Given the description of an element on the screen output the (x, y) to click on. 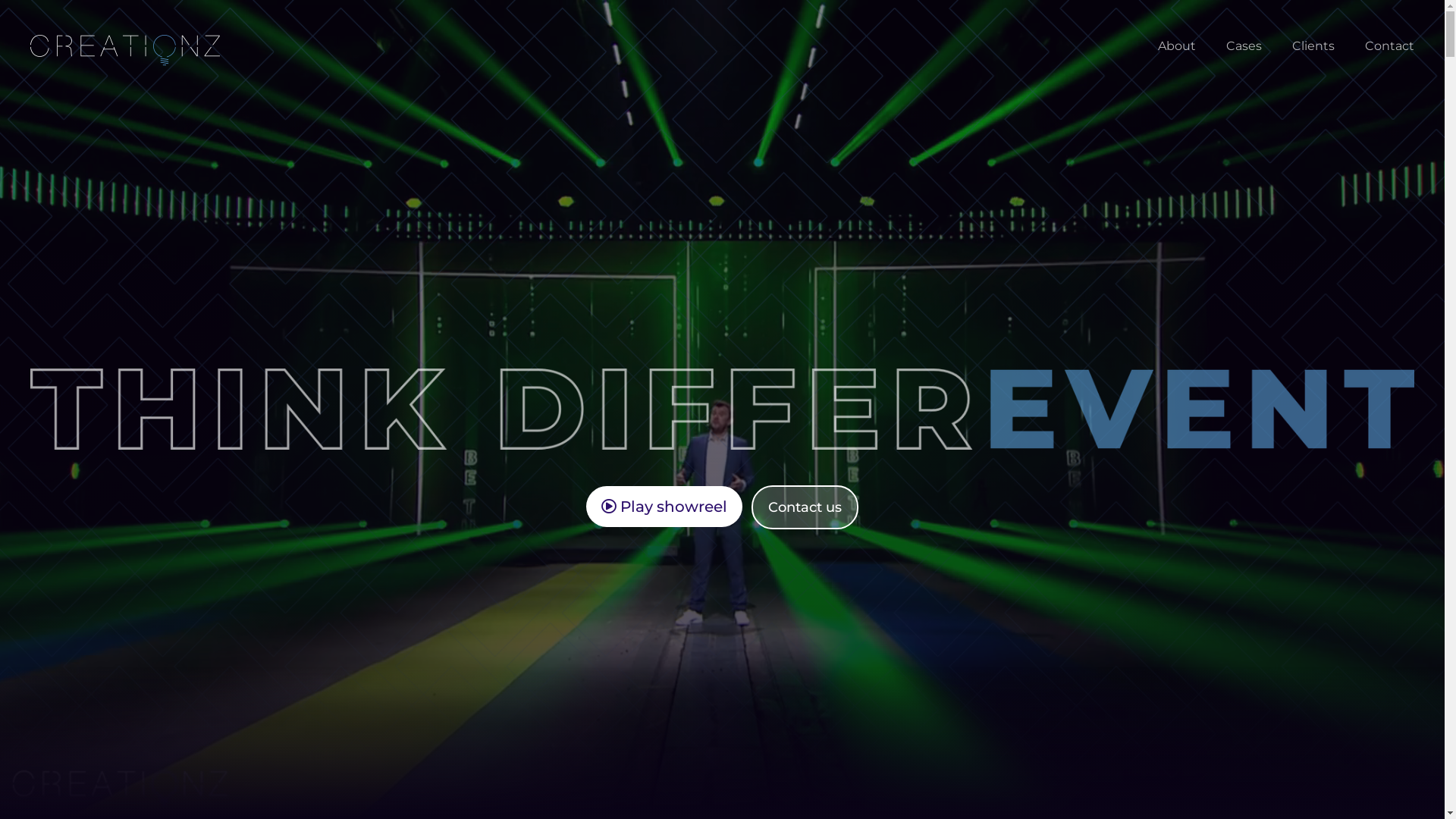
Clients Element type: text (1313, 45)
Contact us Element type: text (804, 507)
About Element type: text (1176, 45)
Contact Element type: text (1389, 45)
Cases Element type: text (1243, 45)
